Given the description of an element on the screen output the (x, y) to click on. 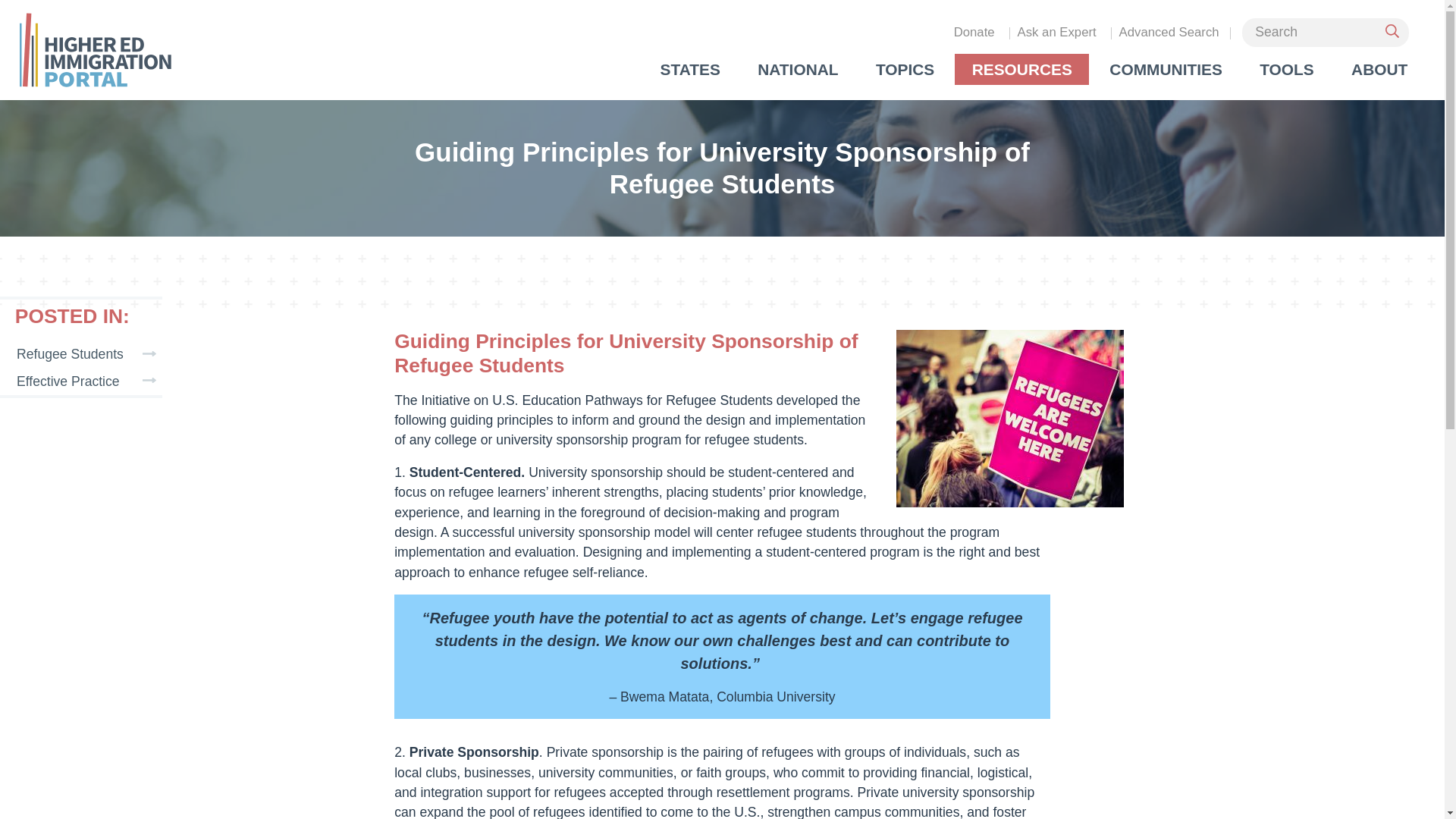
Donate (973, 32)
NATIONAL (798, 69)
RESOURCES (1022, 69)
TOPICS (905, 69)
Search for: (1325, 32)
Ask an Expert (1056, 32)
ABOUT (1380, 69)
COMMUNITIES (1166, 69)
STATES (689, 69)
